Given the description of an element on the screen output the (x, y) to click on. 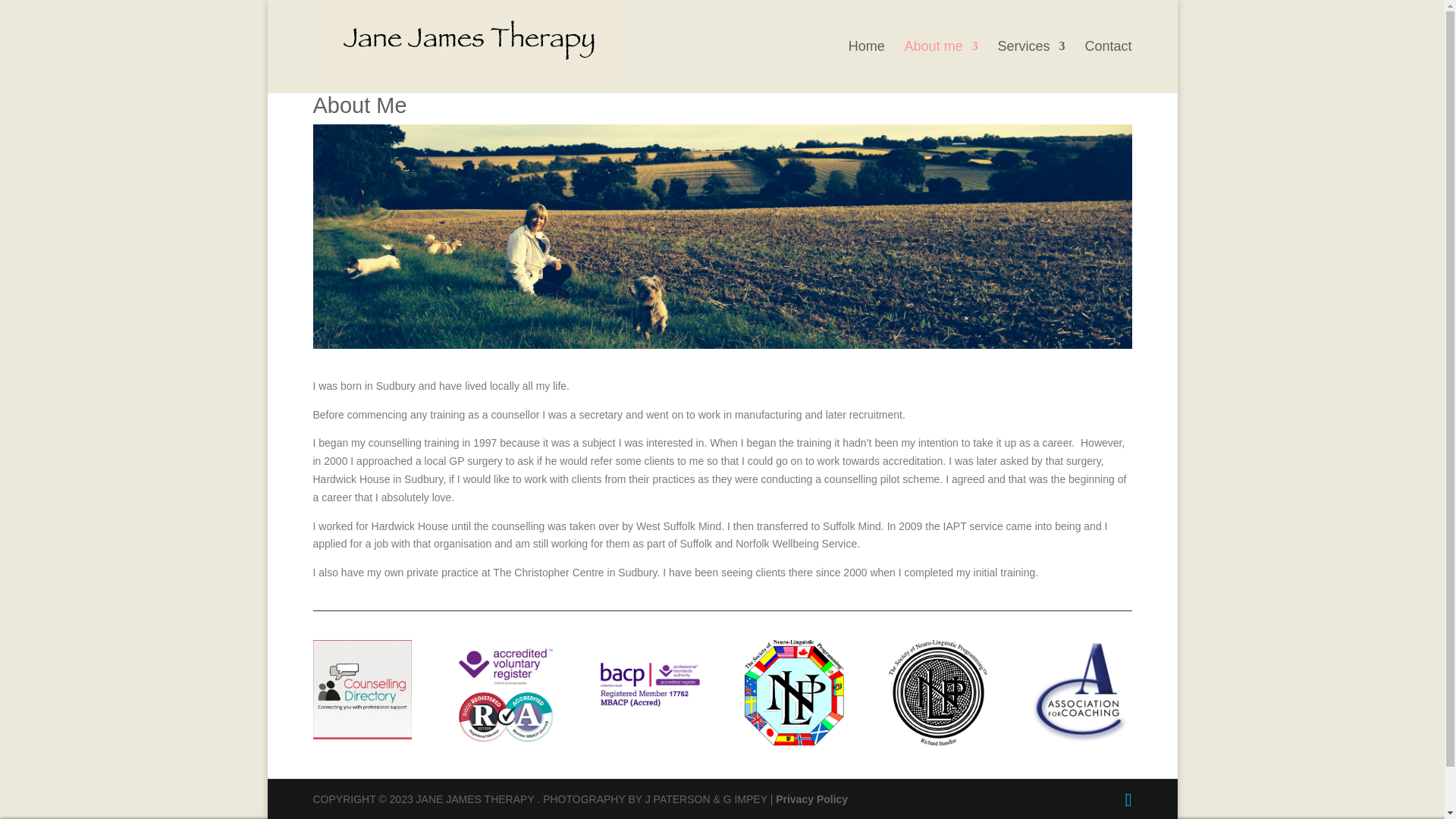
Contact (1107, 66)
About me (941, 66)
BACP Logo - 17762 (648, 684)
Privacy Policy (811, 799)
Services (1031, 66)
